Given the description of an element on the screen output the (x, y) to click on. 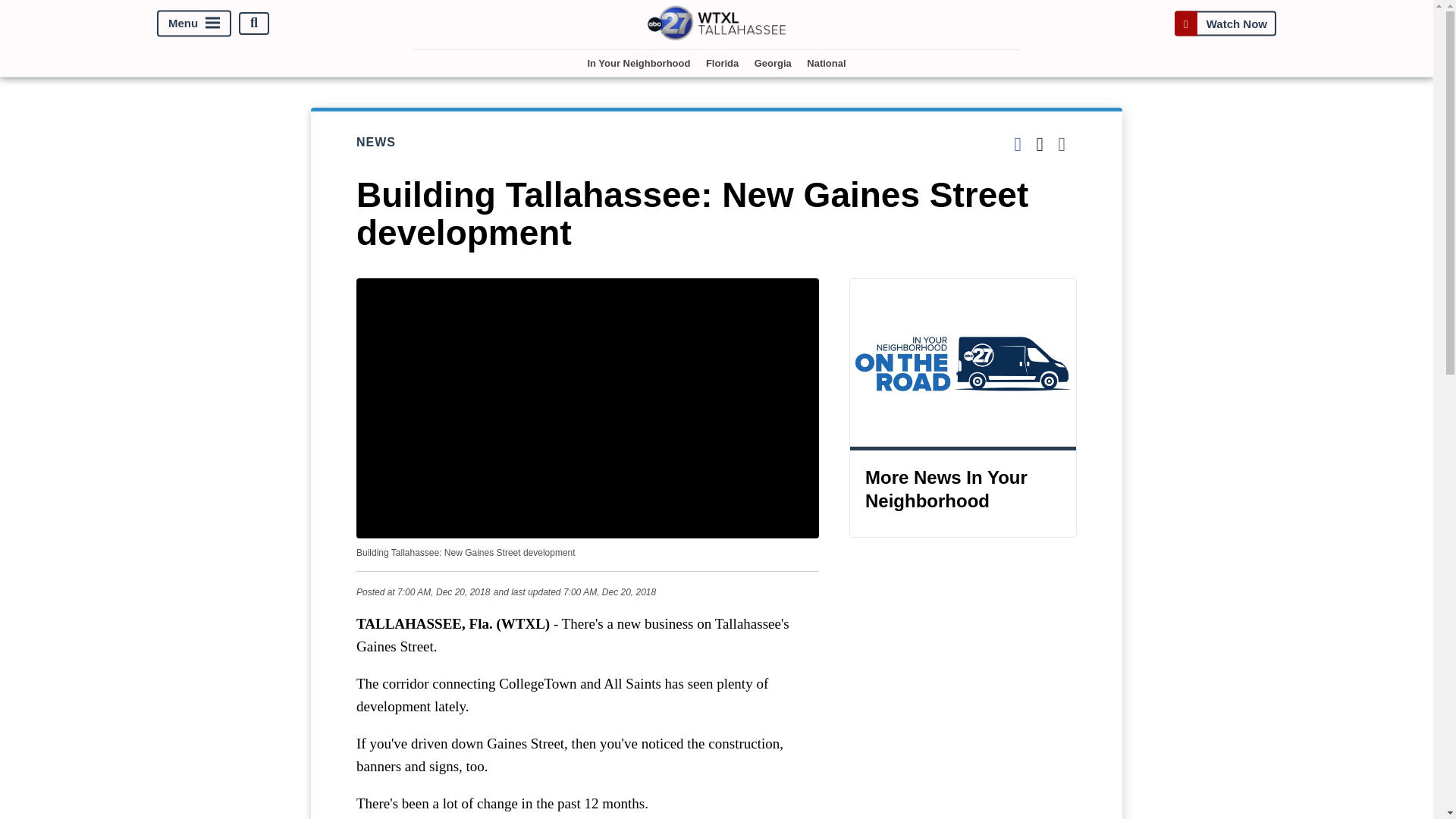
Menu (194, 22)
Watch Now (1224, 22)
